Given the description of an element on the screen output the (x, y) to click on. 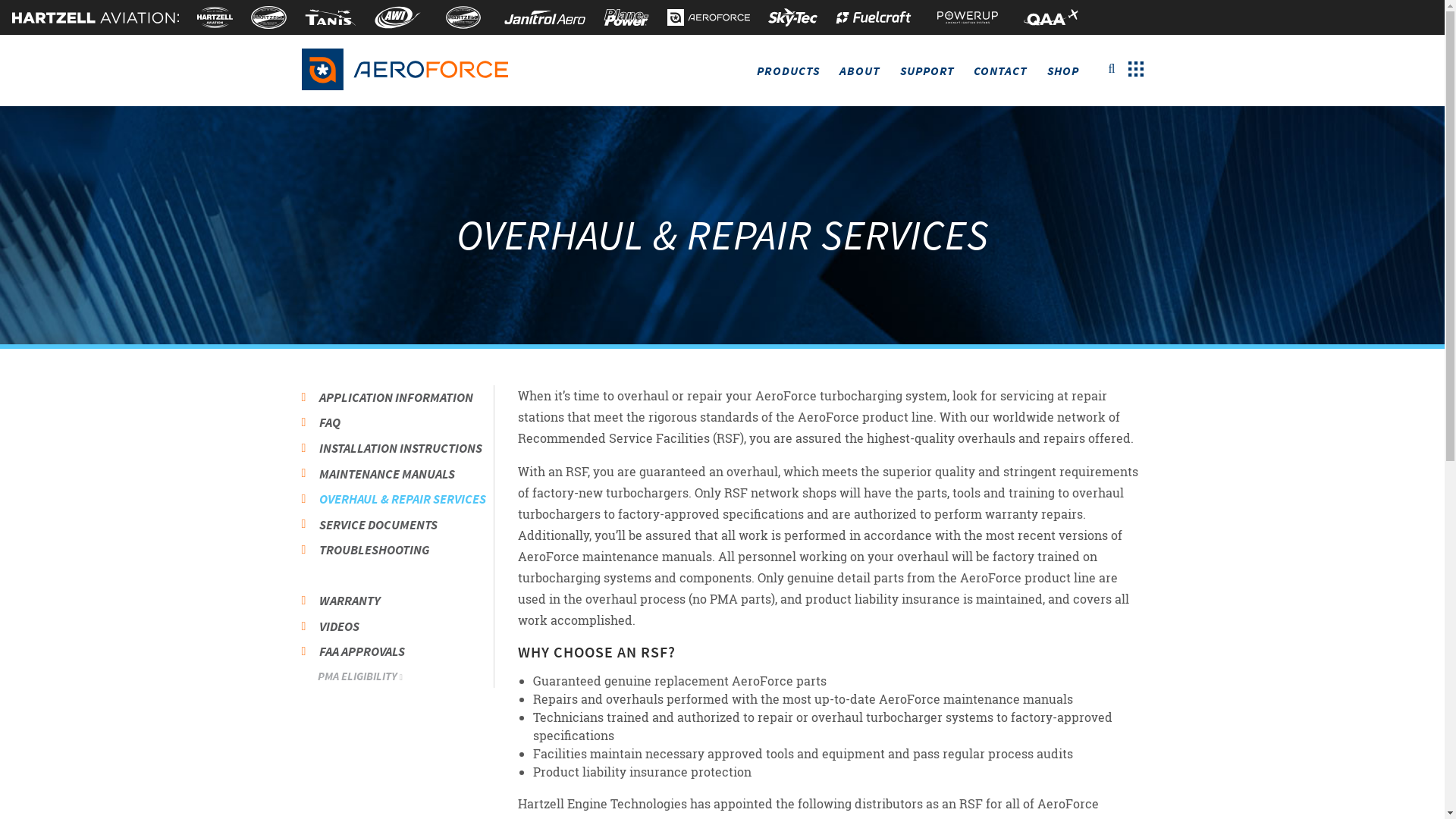
SHOP (1062, 70)
Hartzell Aviation (214, 16)
CONTACT (999, 70)
Aeroforce (707, 17)
powerupignition (968, 17)
Tanis (330, 16)
PRODUCTS (788, 70)
ABOUT (859, 70)
Hartzell Prop (268, 16)
Janitrol Aero (544, 17)
PlanePower (626, 16)
QAA (1050, 16)
Sky-Tec (792, 16)
AWI (398, 16)
Fuelcraft (873, 17)
